Given the description of an element on the screen output the (x, y) to click on. 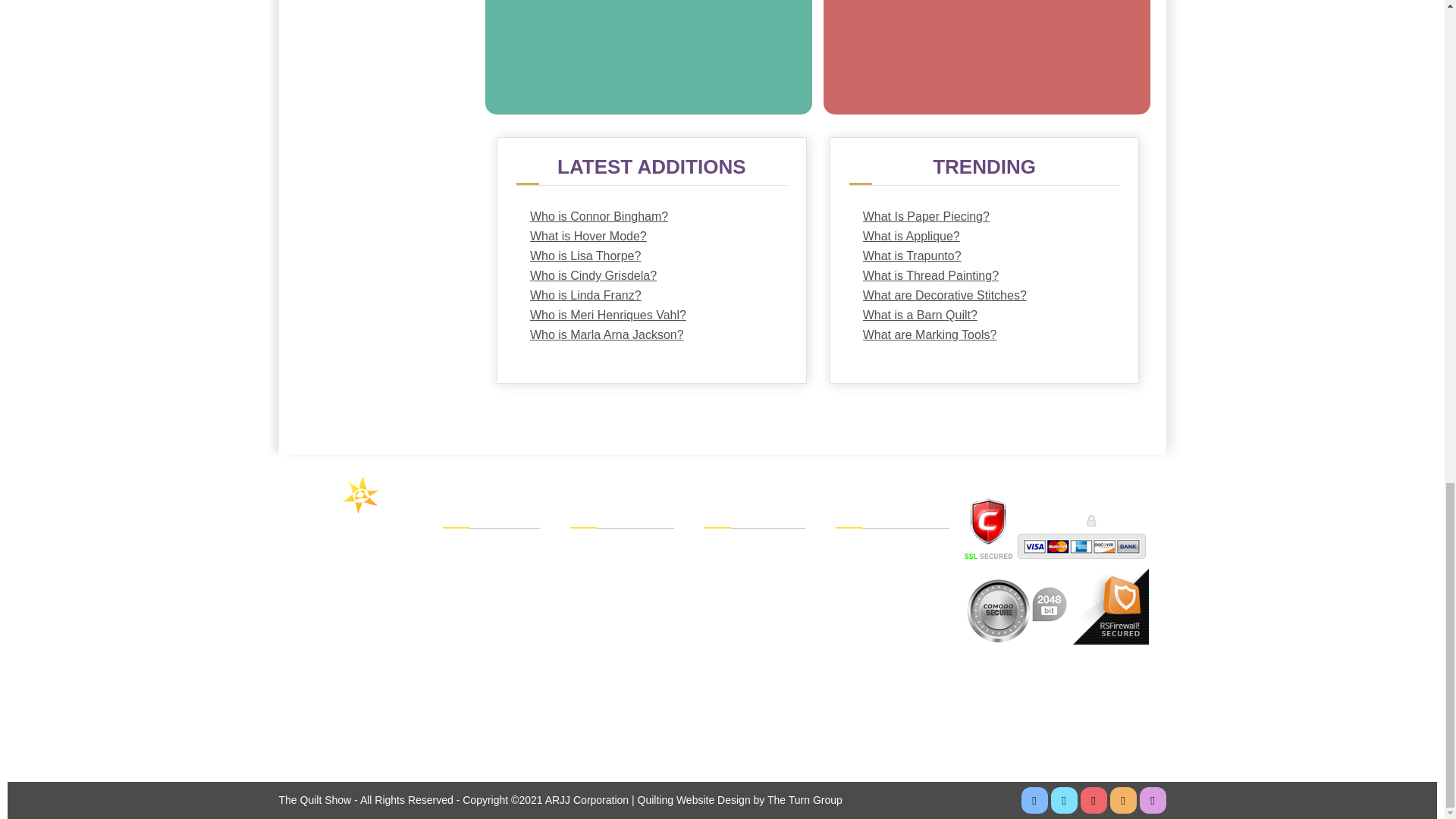
Who is Connor Bingham? (651, 216)
Watch Quilt Shows and Quilting Videos Online (491, 549)
Who is Meri Henriques Vahl? (651, 315)
Contact The Quilt Show (330, 729)
The Quilt Show Member Dashboard (622, 549)
Who is Lisa Thorpe? (651, 256)
The Quilt Show (348, 511)
Call The Quilt Show (331, 627)
Who is Marla Arna Jackson? (651, 334)
What Is Paper Piecing? (984, 216)
